Given the description of an element on the screen output the (x, y) to click on. 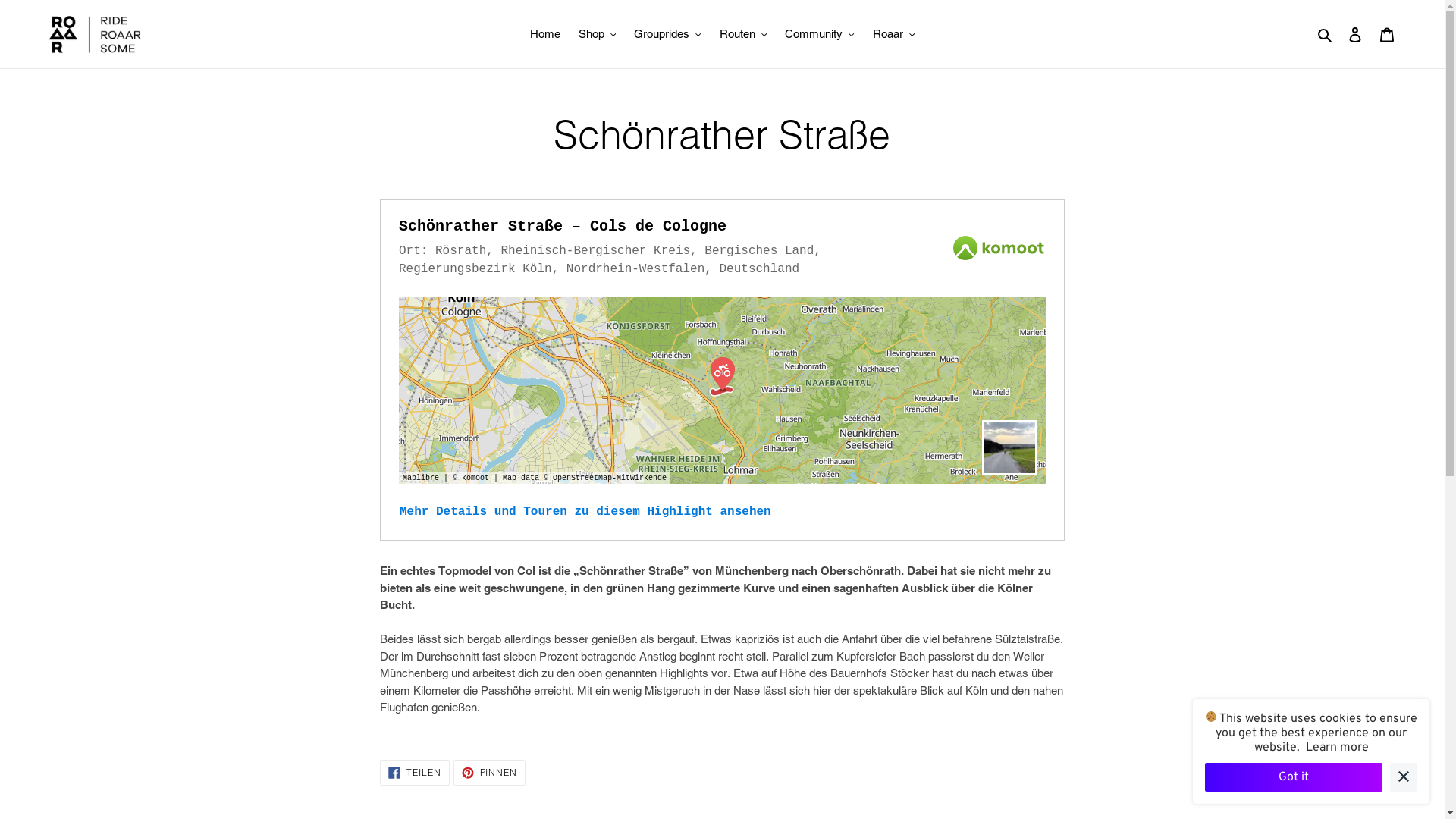
Learn more Element type: text (1336, 747)
Suchen Element type: text (1325, 34)
Got it Element type: text (1293, 776)
Home Element type: text (544, 34)
Community Element type: text (819, 34)
Einloggen Element type: text (1355, 34)
Grouprides Element type: text (667, 34)
Roaar Element type: text (893, 34)
PINNEN
AUF PINTEREST PINNEN Element type: text (489, 772)
TEILEN
AUF FACEBOOK TEILEN Element type: text (414, 772)
Routen Element type: text (743, 34)
Warenkorb Element type: text (1386, 34)
Shop Element type: text (597, 34)
